Given the description of an element on the screen output the (x, y) to click on. 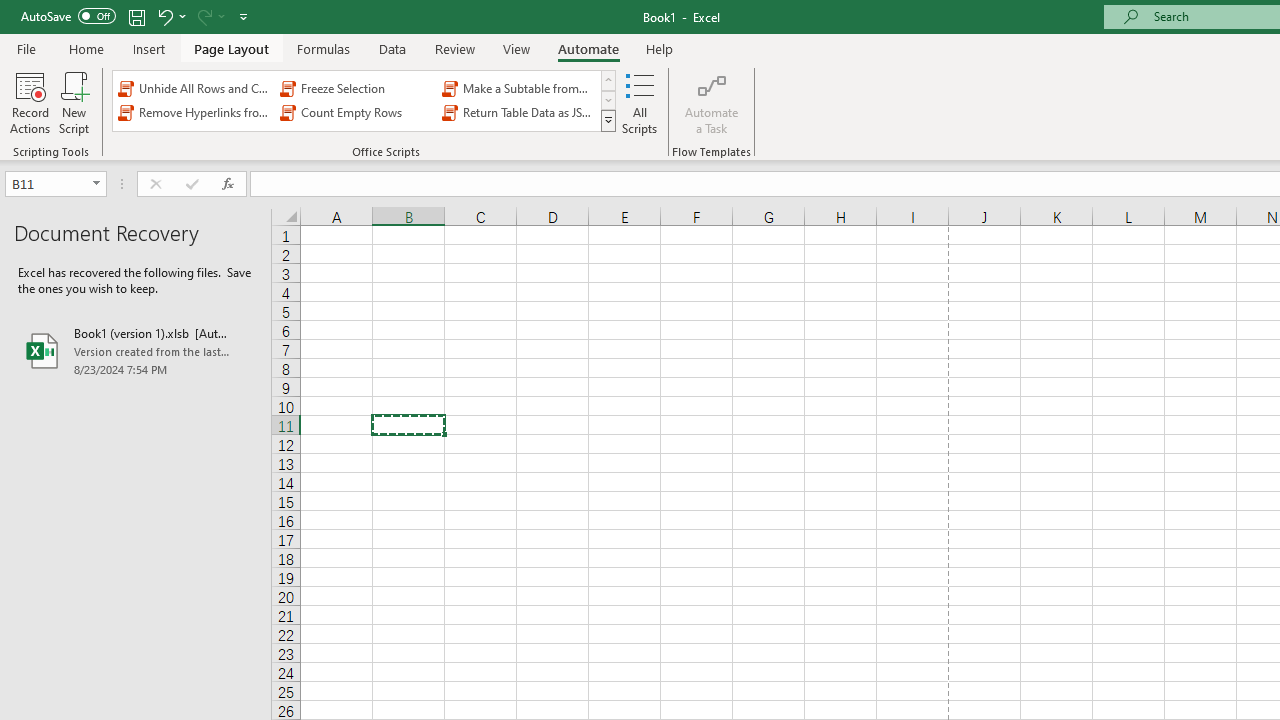
Return Table Data as JSON (518, 112)
Record Actions (29, 102)
Make a Subtable from a Selection (518, 88)
